Given the description of an element on the screen output the (x, y) to click on. 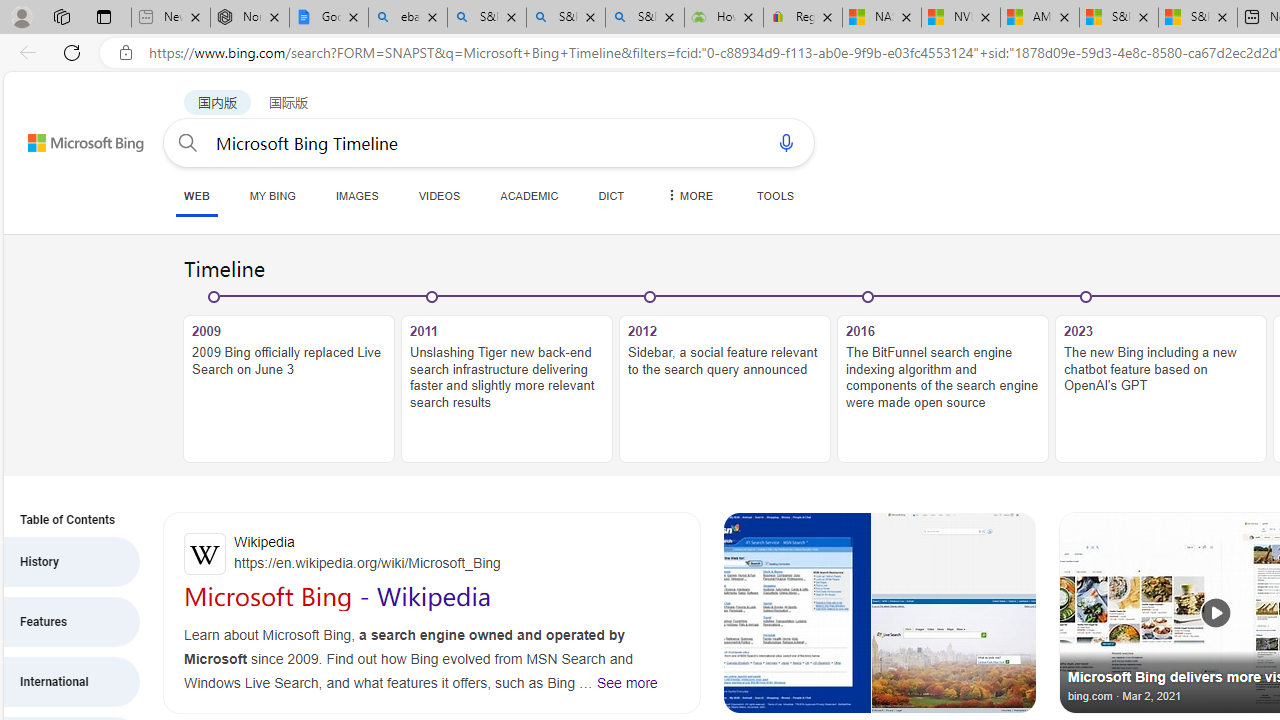
Wikipedia (431, 553)
Skip to content (63, 133)
WEB (196, 196)
VIDEOS (438, 195)
VIDEOS (438, 195)
MY BING (272, 195)
ACADEMIC (529, 195)
Search using voice (785, 142)
TOOLS (775, 195)
